Given the description of an element on the screen output the (x, y) to click on. 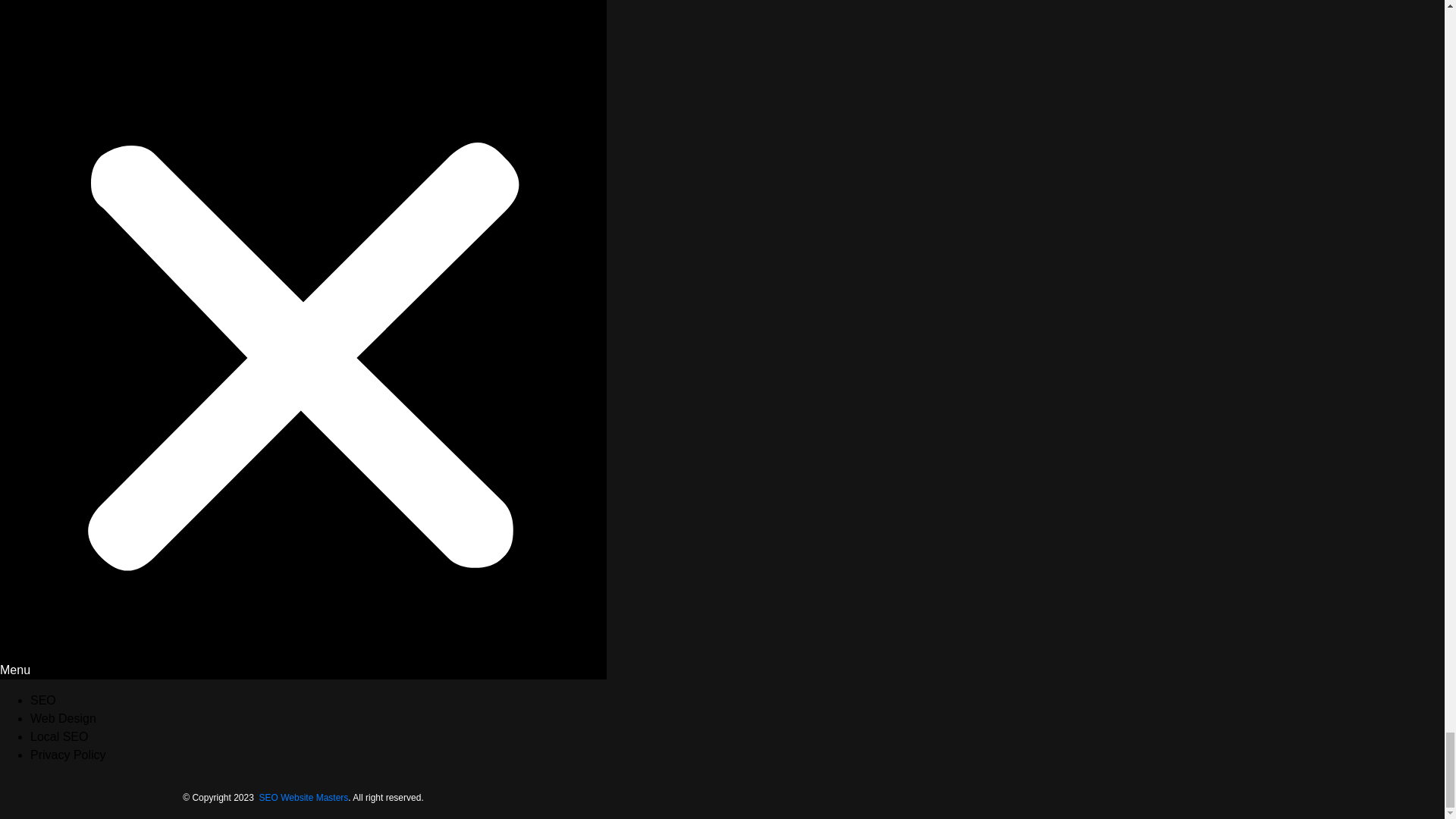
SEO (43, 699)
Web Design (63, 717)
